Given the description of an element on the screen output the (x, y) to click on. 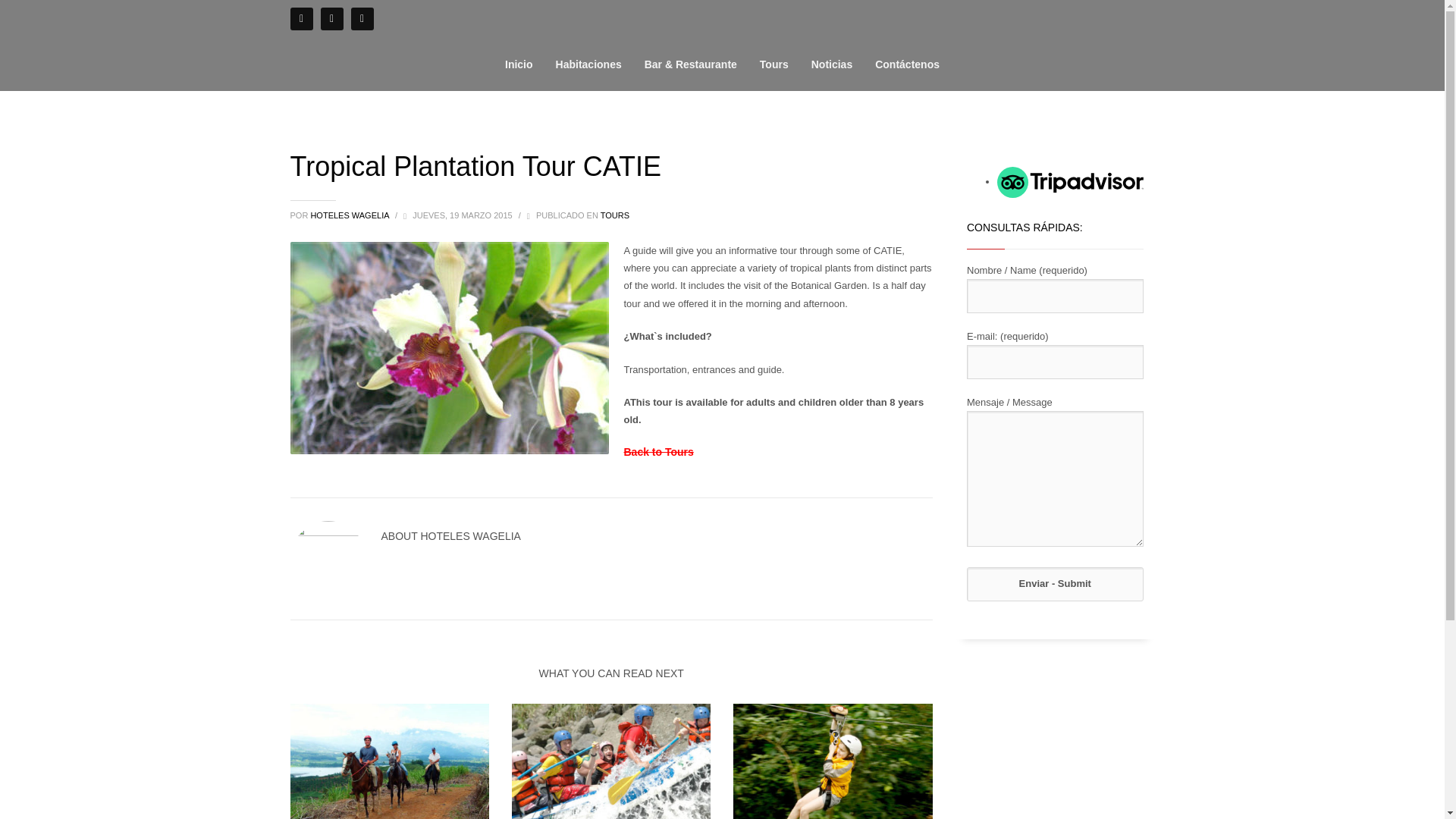
HOTELES WAGELIA (350, 215)
Enviar - Submit (1054, 584)
Tours (658, 451)
Back to Tours (658, 451)
Noticias (831, 63)
Enviar - Submit (1054, 584)
Habitaciones (588, 63)
TOURS (613, 215)
